Given the description of an element on the screen output the (x, y) to click on. 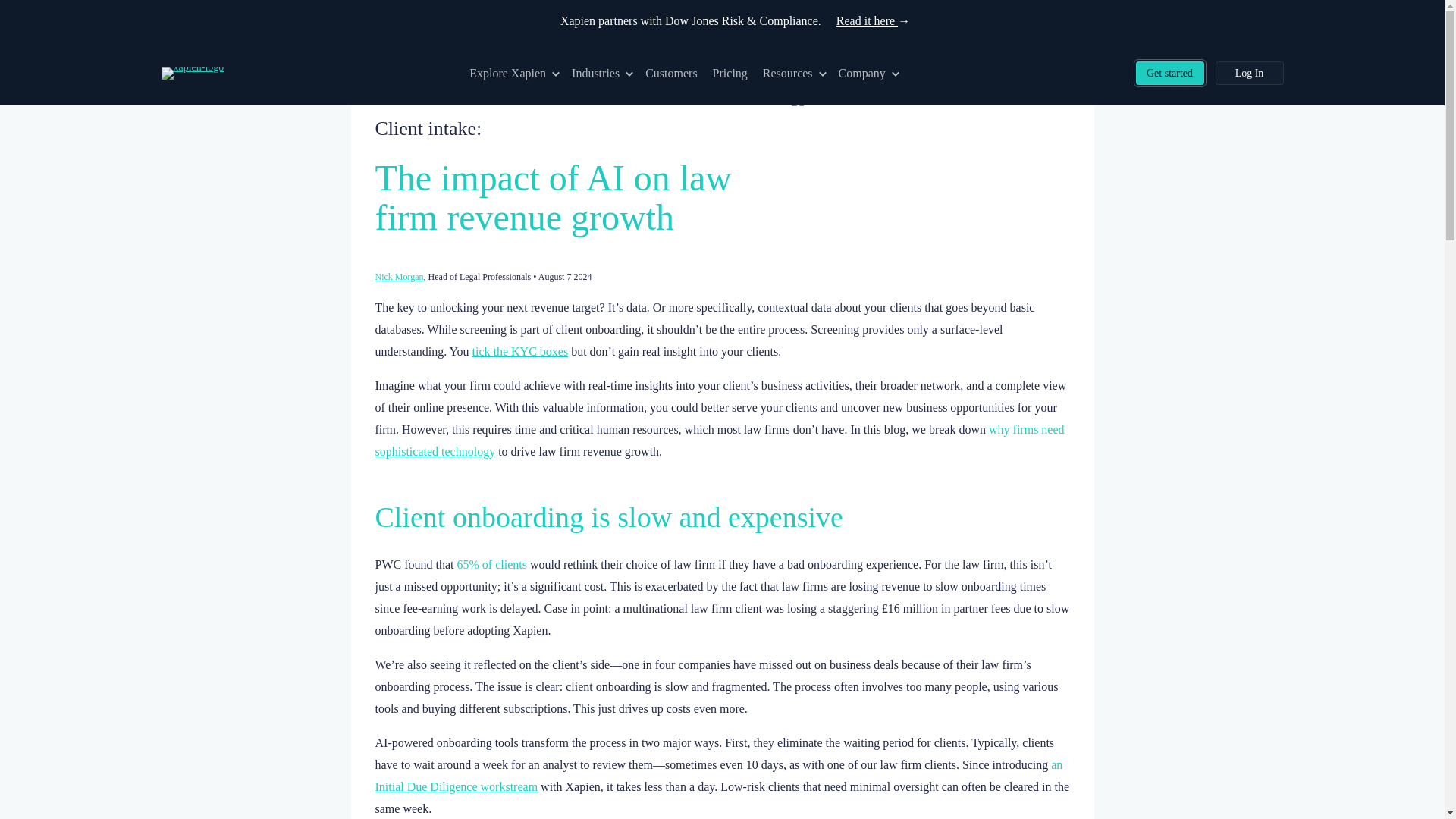
Resources (793, 72)
an Initial Due Diligence workstream (718, 775)
Explore Xapien (512, 72)
why firms need sophisticated technology (719, 440)
tick the KYC boxes (520, 350)
Company (867, 72)
Get started (1169, 73)
Industries (601, 72)
Nick Morgan (398, 276)
Read it here (861, 20)
